Given the description of an element on the screen output the (x, y) to click on. 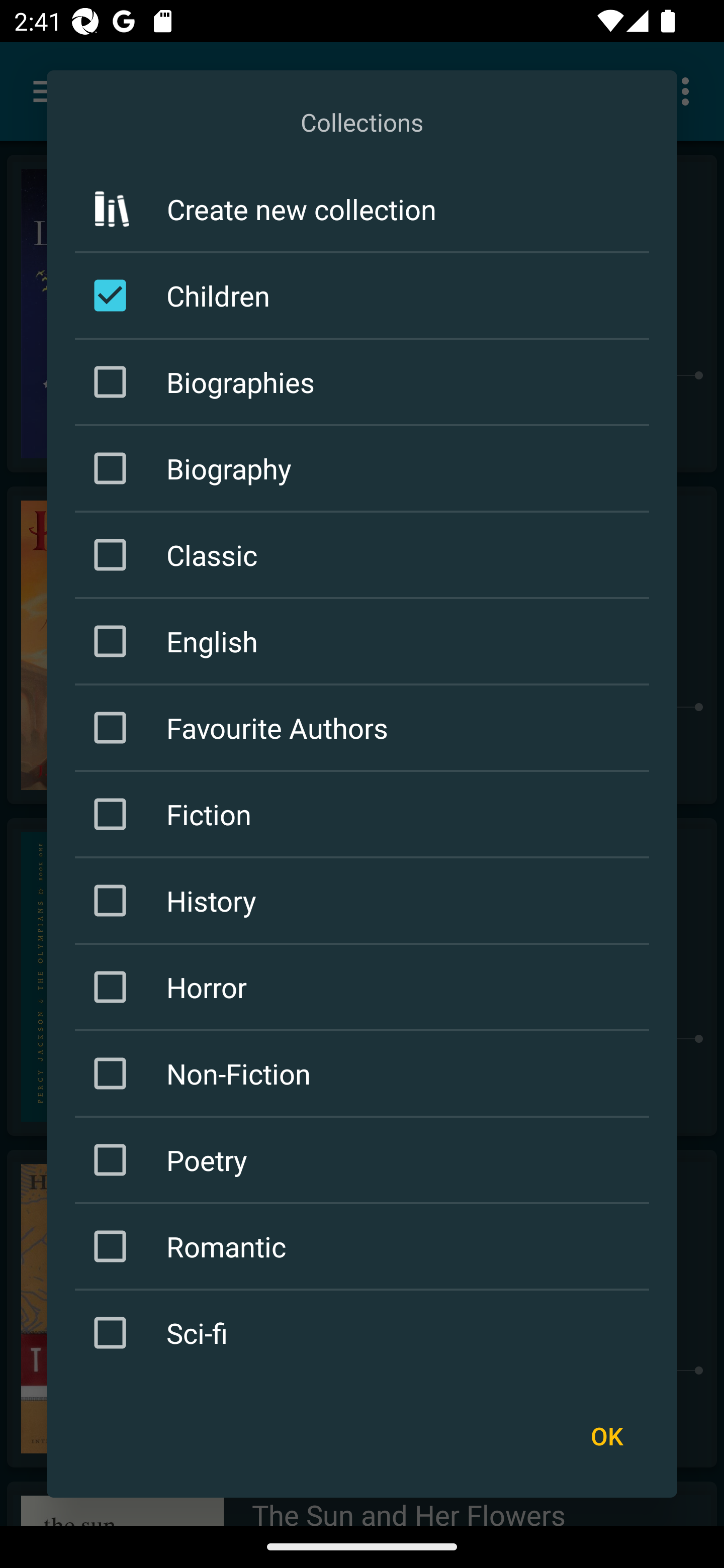
Create new collection (361, 208)
Children (365, 295)
Biographies (365, 382)
Biography (365, 468)
Classic (365, 554)
English (365, 640)
Favourite Authors (365, 727)
Fiction (365, 813)
History (365, 899)
Horror (365, 986)
Non-Fiction (365, 1073)
Poetry (365, 1159)
Romantic (365, 1246)
Sci-fi (365, 1332)
OK (606, 1436)
